Given the description of an element on the screen output the (x, y) to click on. 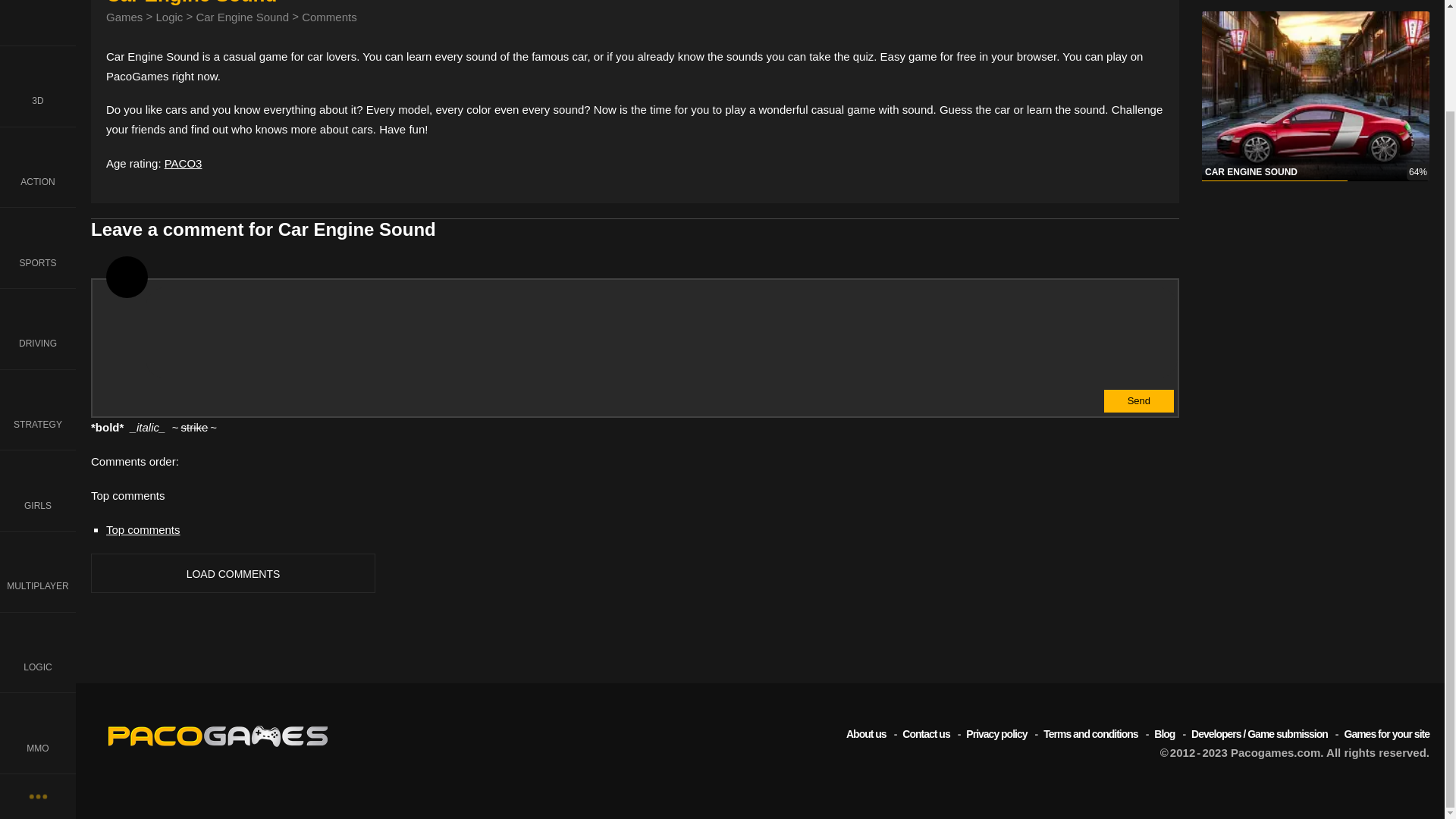
STRATEGY (37, 291)
Logic Games (37, 534)
Car Engine Sound (241, 16)
3D Games (37, 4)
MULTIPLAYER (37, 453)
Comments (328, 16)
PACO3 (183, 163)
Multiplayer Games (37, 453)
Action Games (37, 49)
Strategy Games (37, 291)
